Given the description of an element on the screen output the (x, y) to click on. 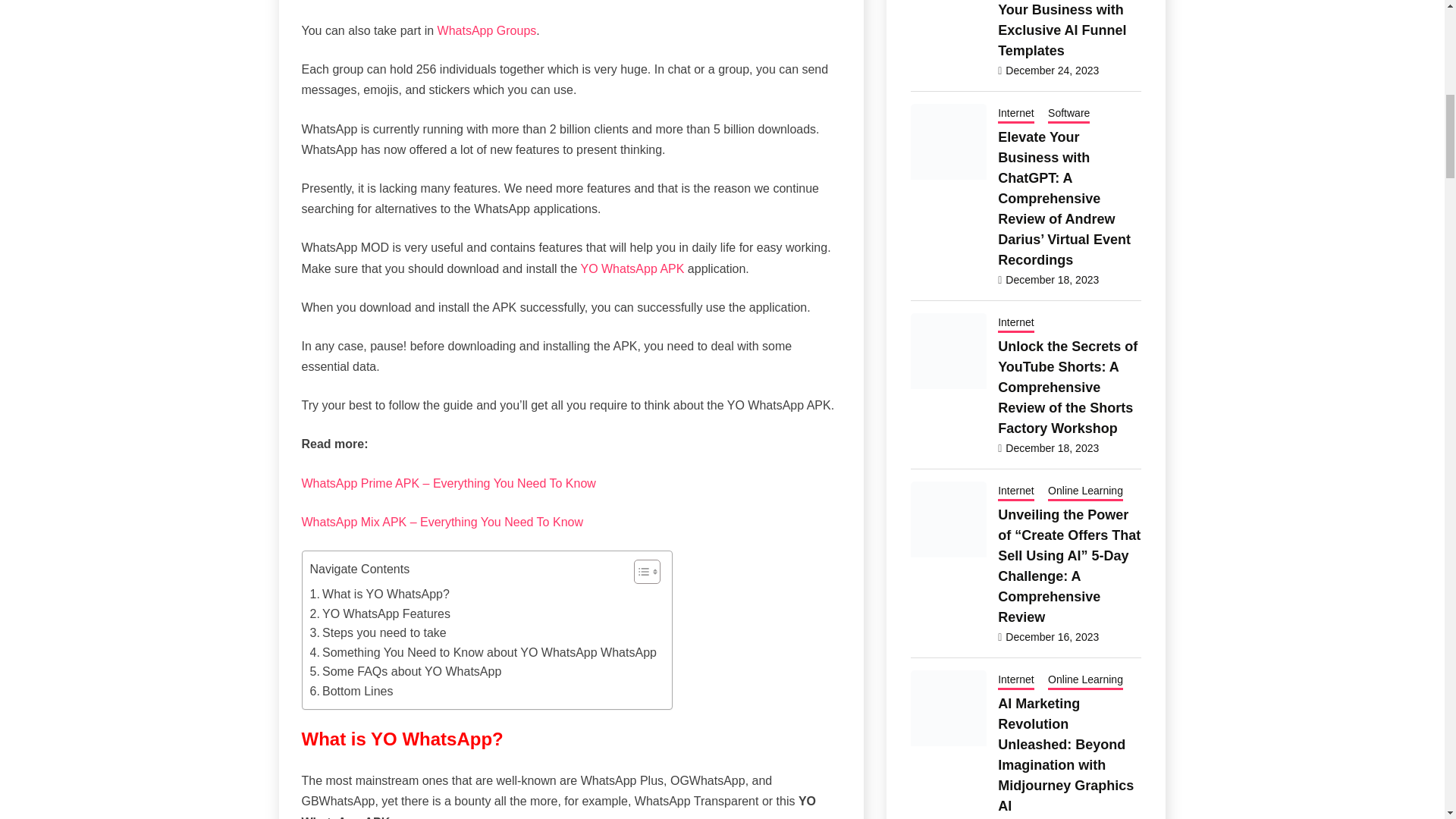
Some FAQs about YO WhatsApp (404, 671)
Something You Need to Know about YO WhatsApp WhatsApp (482, 652)
YO WhatsApp Features (378, 614)
What is YO WhatsApp? (378, 594)
WhatsApp Groups (484, 30)
YO WhatsApp Features (378, 614)
Bottom Lines (350, 691)
Something You Need to Know about YO WhatsApp WhatsApp (482, 652)
What is YO WhatsApp? (378, 594)
Steps you need to take (376, 632)
YO WhatsApp APK (630, 268)
Bottom Lines (350, 691)
Some FAQs about YO WhatsApp (404, 671)
Steps you need to take (376, 632)
